Given the description of an element on the screen output the (x, y) to click on. 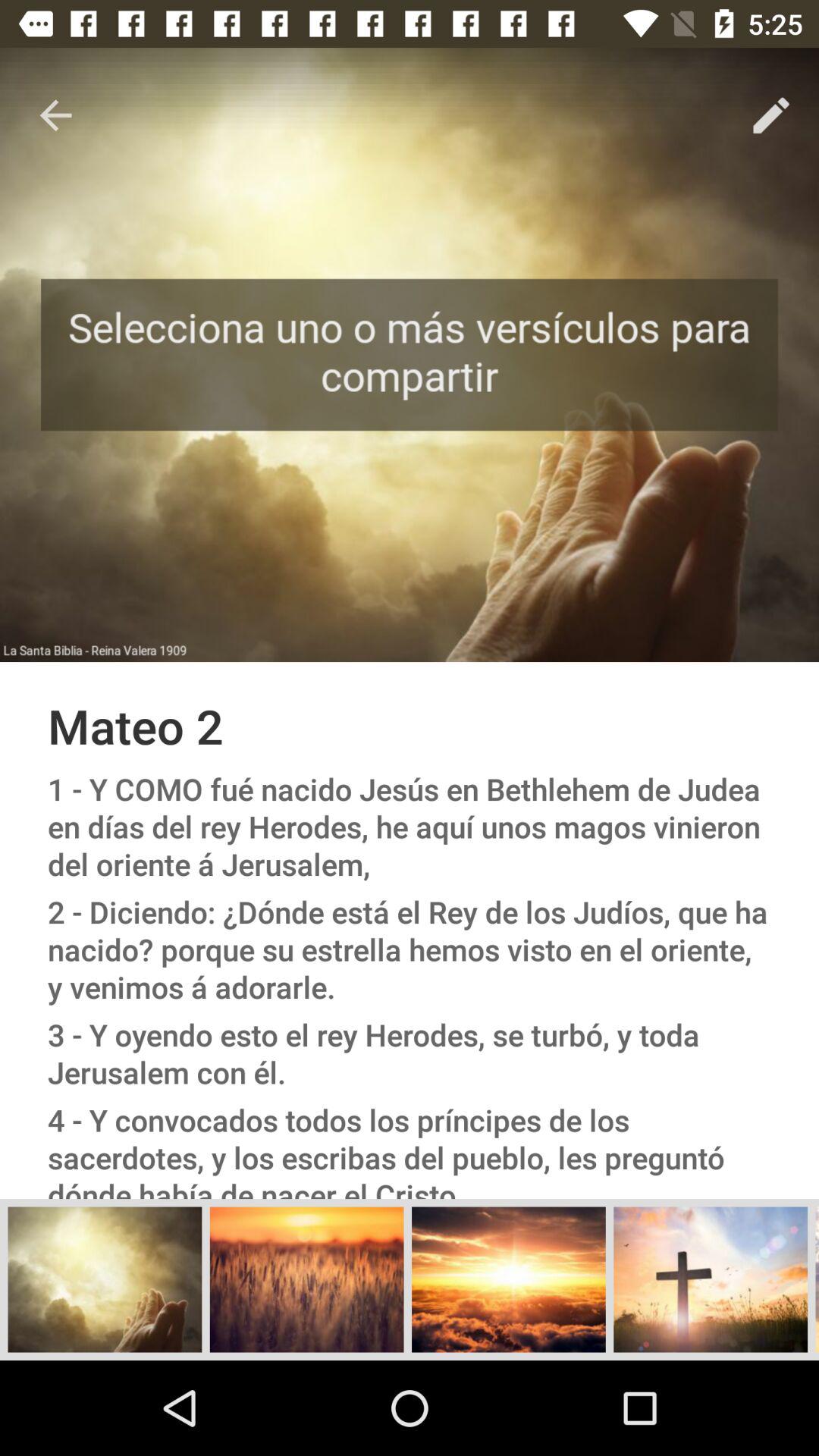
tap the 3 y oyendo icon (409, 1053)
